Given the description of an element on the screen output the (x, y) to click on. 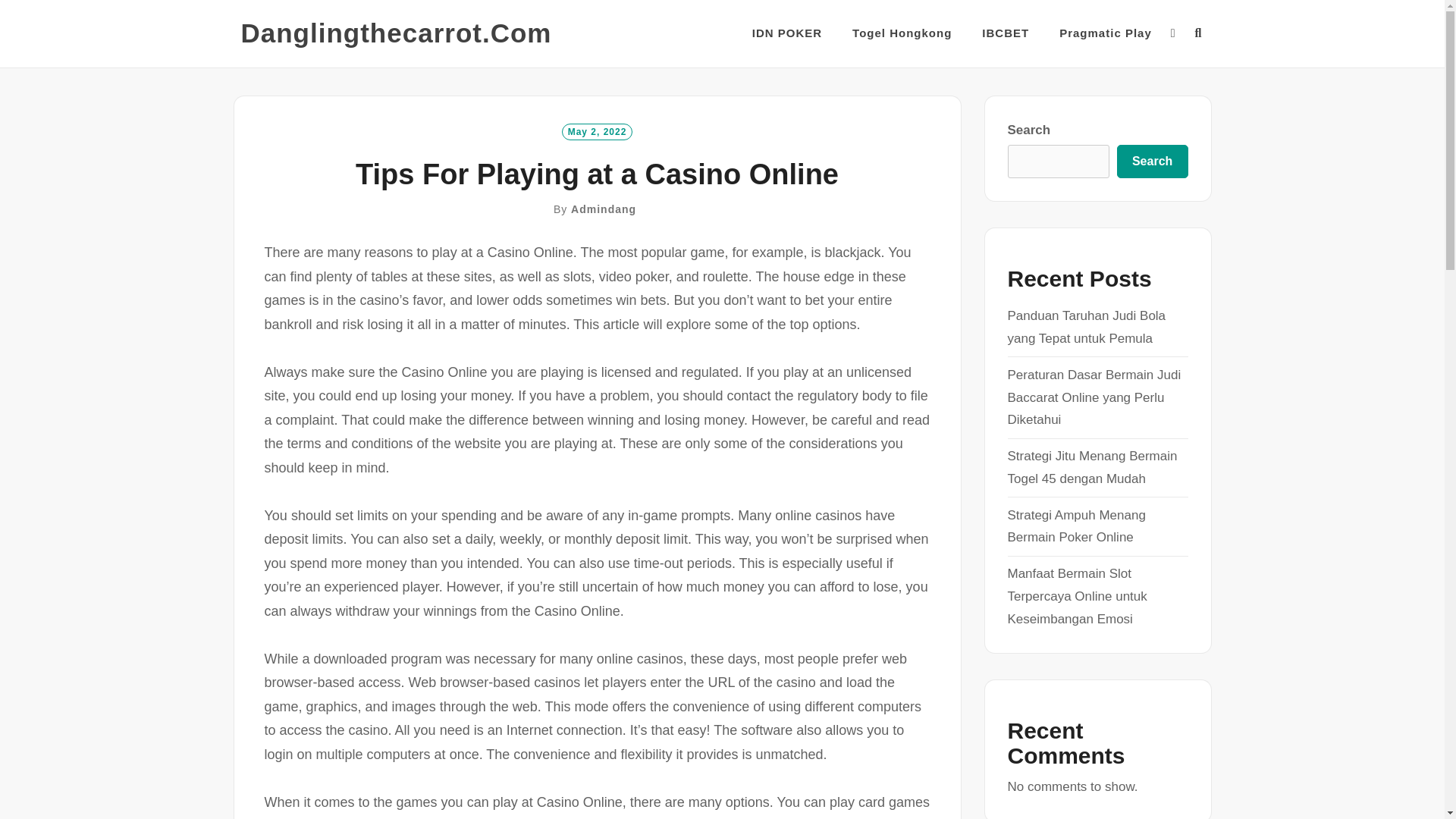
May 2, 2022 (597, 130)
Danglingthecarrot.Com (396, 33)
Strategi Jitu Menang Bermain Togel 45 dengan Mudah (1091, 467)
Admindang (603, 209)
IDN POKER (787, 33)
Search (1152, 161)
Panduan Taruhan Judi Bola yang Tepat untuk Pemula (1086, 326)
Togel Hongkong (901, 33)
Strategi Ampuh Menang Bermain Poker Online (1075, 526)
Pragmatic Play (1105, 33)
IBCBET (1005, 33)
